Given the description of an element on the screen output the (x, y) to click on. 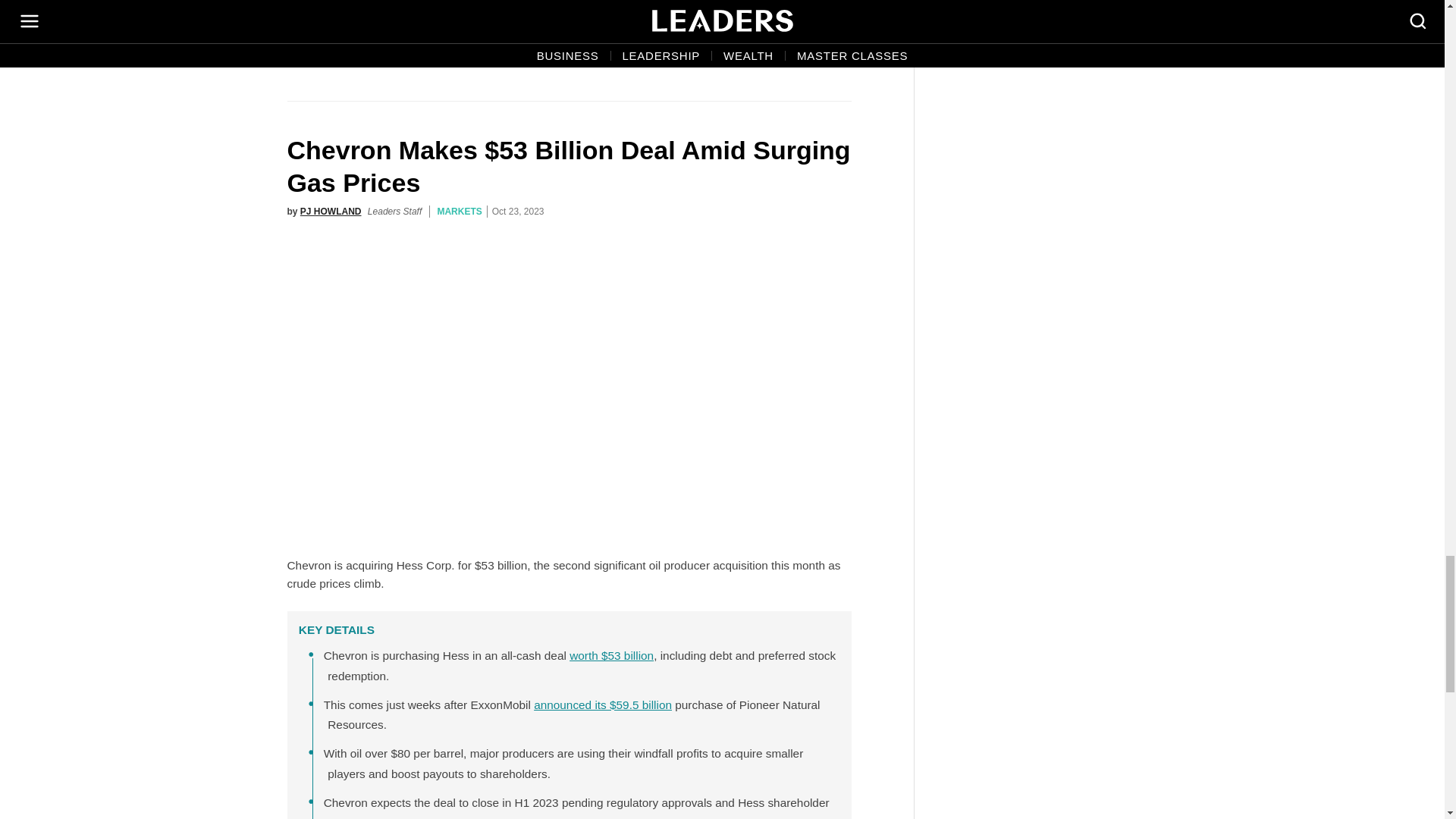
Share on LinkedIn (835, 55)
Share via Email (803, 55)
Share on Twitter (770, 55)
Share on Facebook (738, 55)
